Given the description of an element on the screen output the (x, y) to click on. 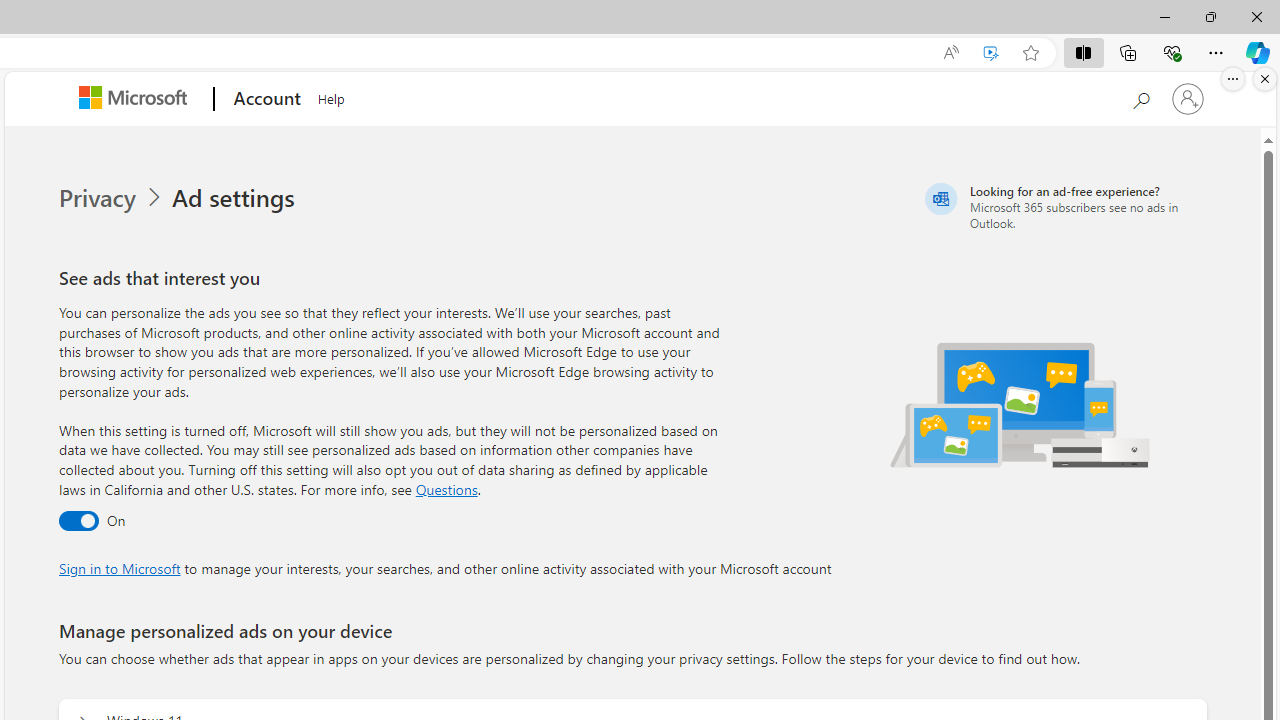
Help (331, 96)
Sign in to your account (1188, 98)
Copilot (Ctrl+Shift+.) (1258, 52)
Privacy (112, 197)
Close (1256, 16)
Ad settings toggle (78, 521)
Browser essentials (1171, 52)
Collections (1128, 52)
Add this page to favorites (Ctrl+D) (1030, 53)
Split screen (1083, 52)
Minimize (1164, 16)
